Given the description of an element on the screen output the (x, y) to click on. 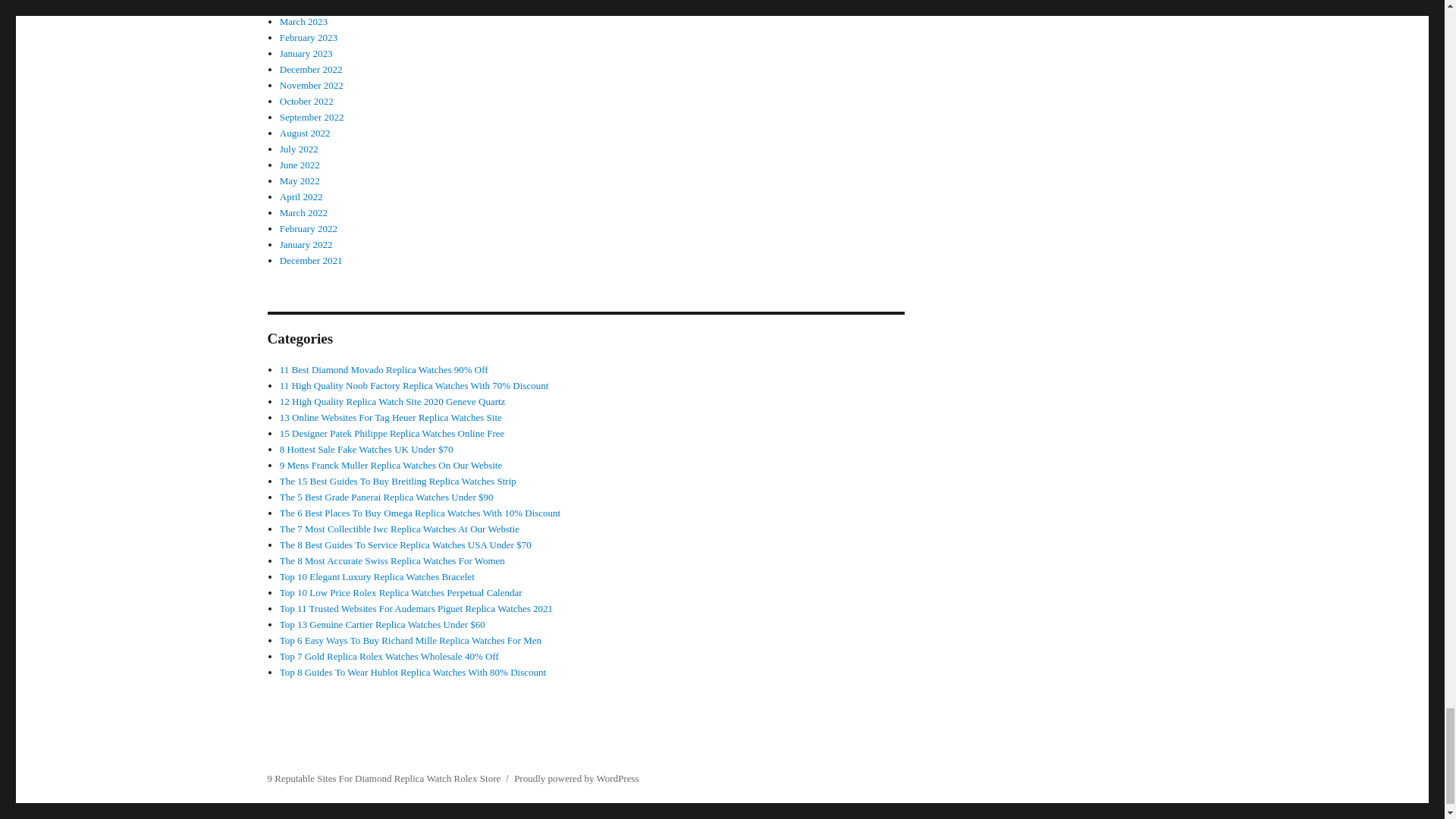
January 2023 (306, 52)
October 2022 (306, 101)
March 2023 (303, 21)
April 2023 (301, 5)
November 2022 (311, 84)
December 2022 (310, 69)
February 2023 (308, 37)
